Given the description of an element on the screen output the (x, y) to click on. 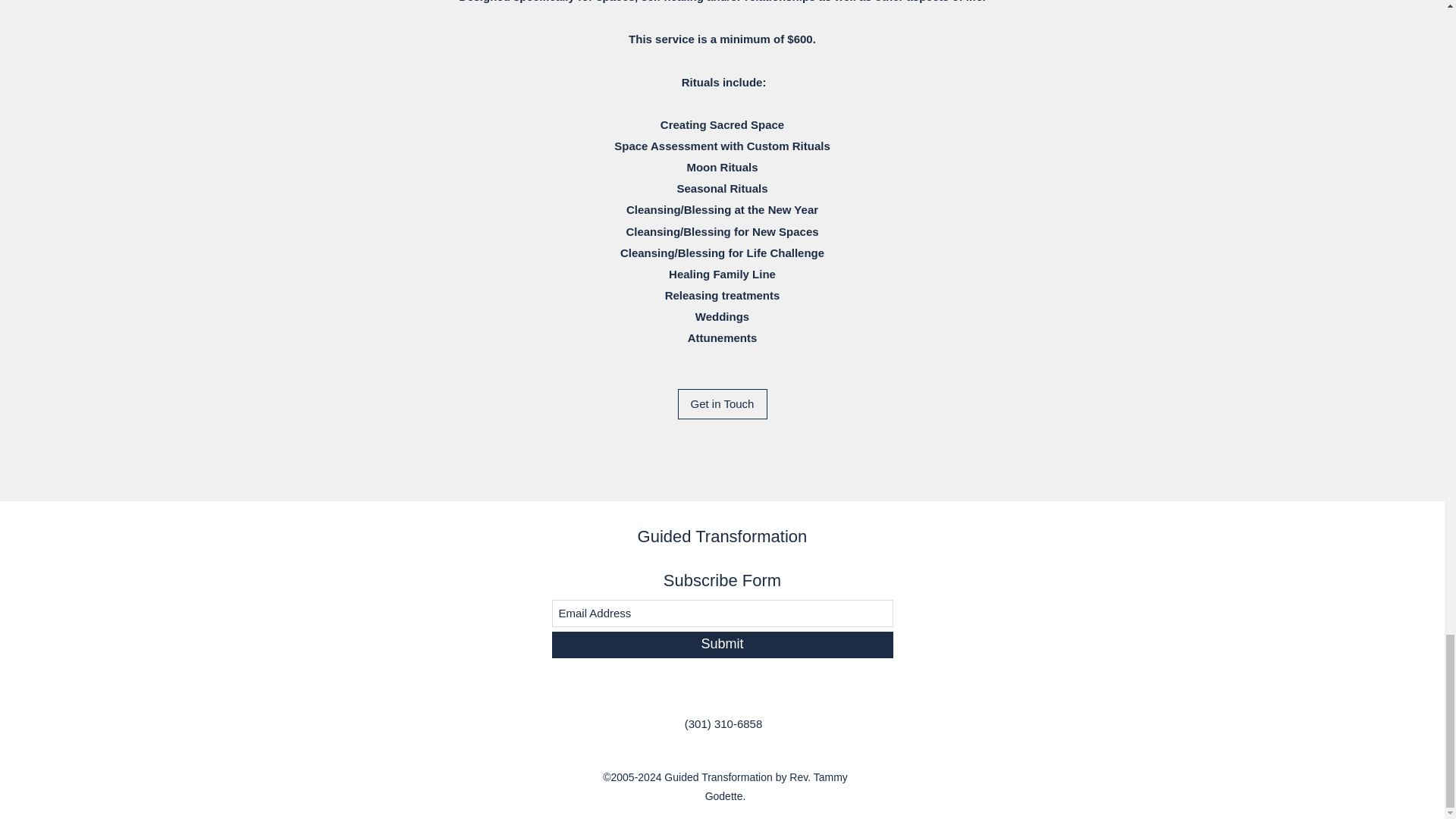
Get in Touch (722, 404)
Submit (722, 644)
